Given the description of an element on the screen output the (x, y) to click on. 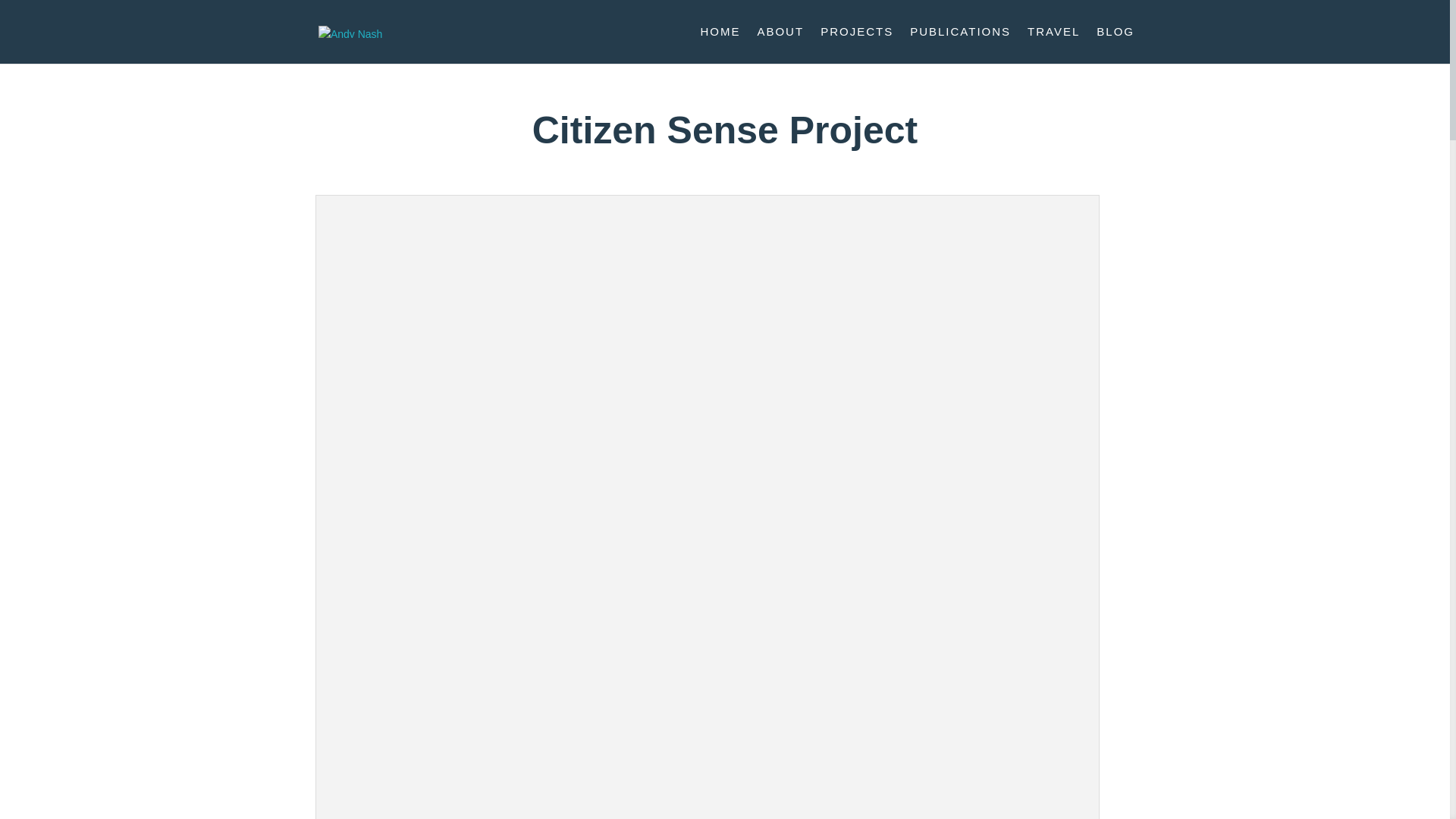
BLOG (1115, 44)
PUBLICATIONS (960, 44)
PROJECTS (857, 44)
TRAVEL (1053, 44)
ABOUT (780, 44)
HOME (719, 44)
